Given the description of an element on the screen output the (x, y) to click on. 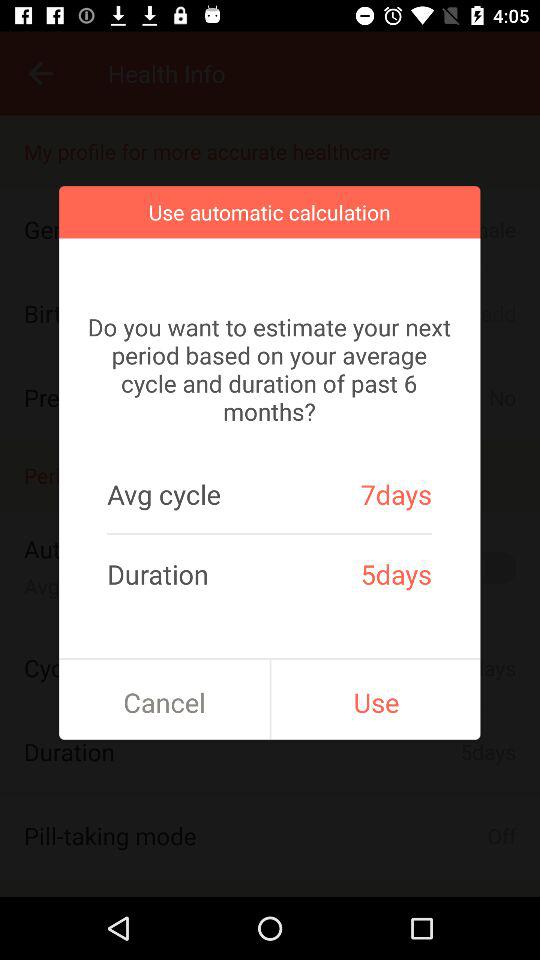
choose item at the bottom left corner (164, 702)
